Given the description of an element on the screen output the (x, y) to click on. 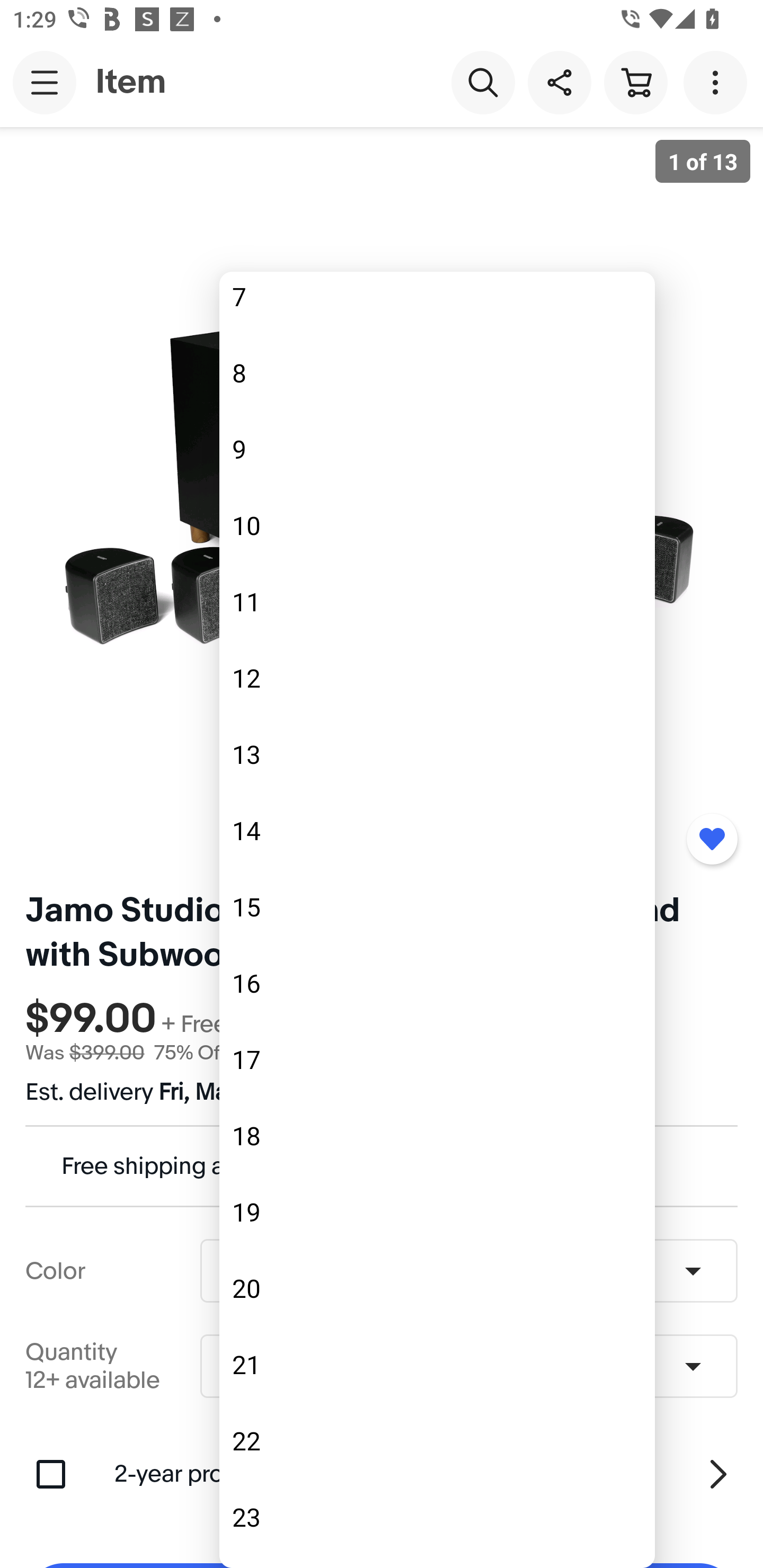
7 (436, 309)
8 (436, 372)
9 (436, 448)
10 (436, 524)
11 (436, 600)
12 (436, 677)
13 (436, 753)
14 (436, 829)
15 (436, 906)
16 (436, 982)
17 (436, 1058)
18 (436, 1135)
19 (436, 1211)
20 (436, 1287)
21 (436, 1364)
22 (436, 1440)
23 (436, 1516)
